Given the description of an element on the screen output the (x, y) to click on. 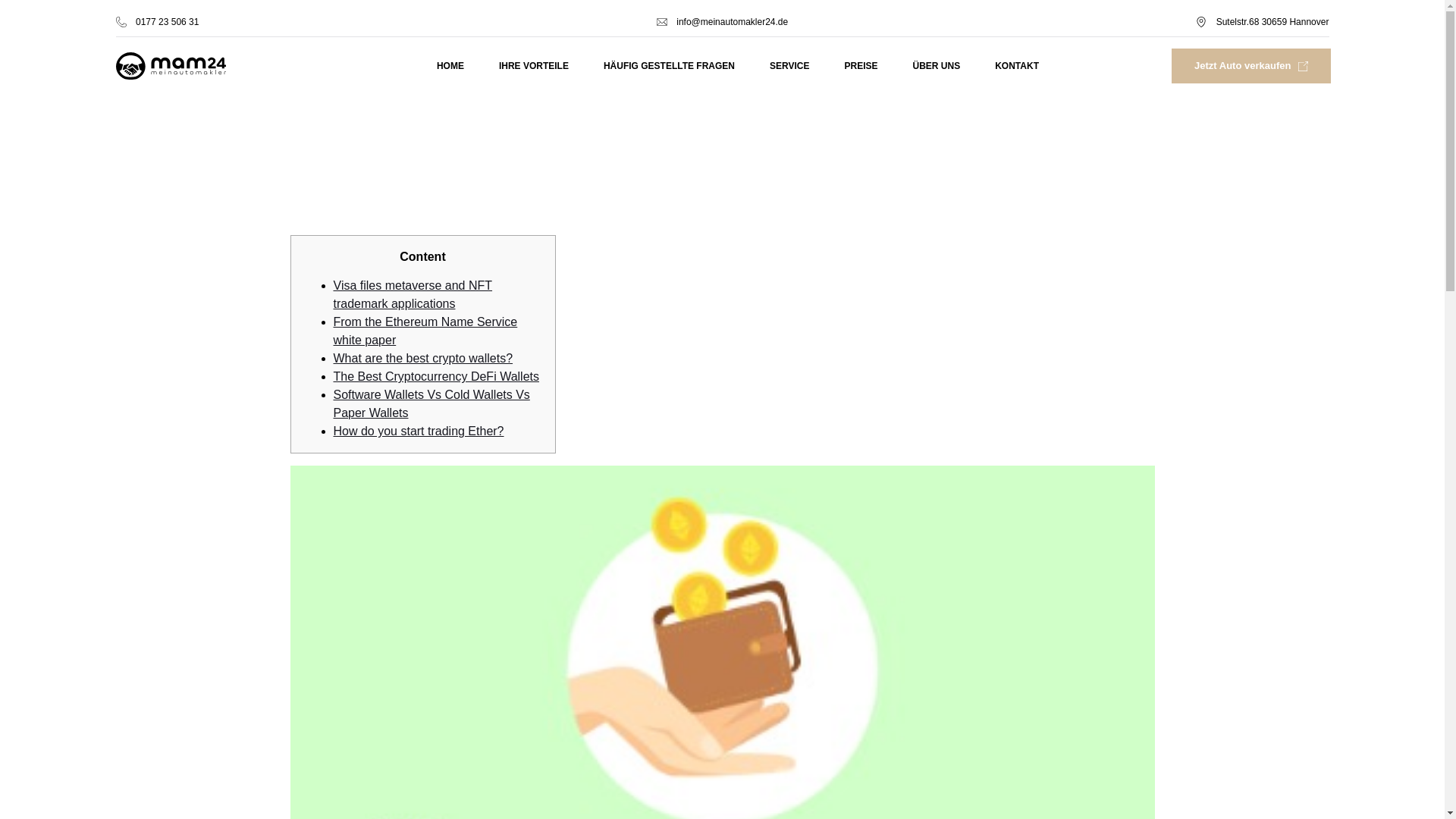
PREISE (860, 65)
The Best Cryptocurrency DeFi Wallets (435, 376)
0177 23 506 31 (317, 21)
From the Ethereum Name Service white paper (425, 330)
What are the best crypto wallets? (423, 358)
Jetzt Auto verkaufen (1251, 65)
HOME (450, 65)
IHRE VORTEILE (534, 65)
Software Wallets Vs Cold Wallets Vs Paper Wallets (431, 403)
SERVICE (789, 65)
